Given the description of an element on the screen output the (x, y) to click on. 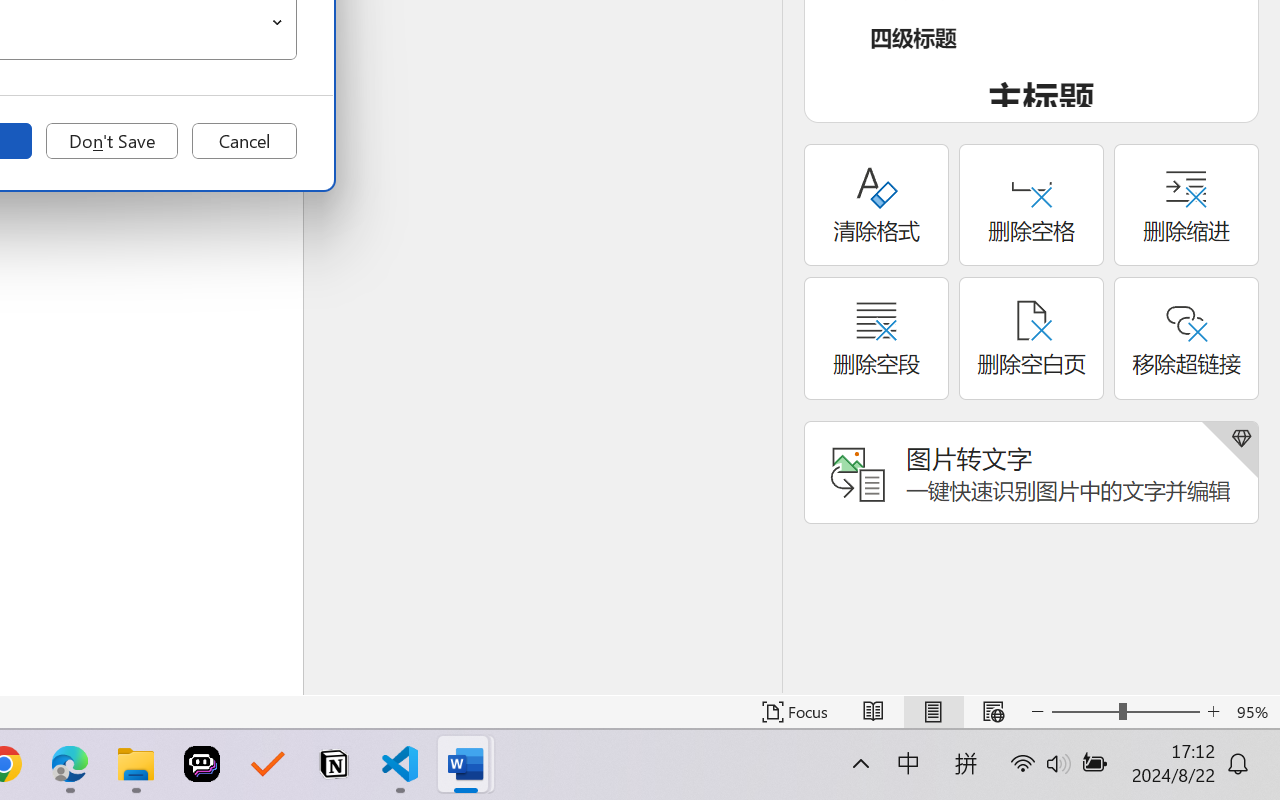
Cancel (244, 141)
